Given the description of an element on the screen output the (x, y) to click on. 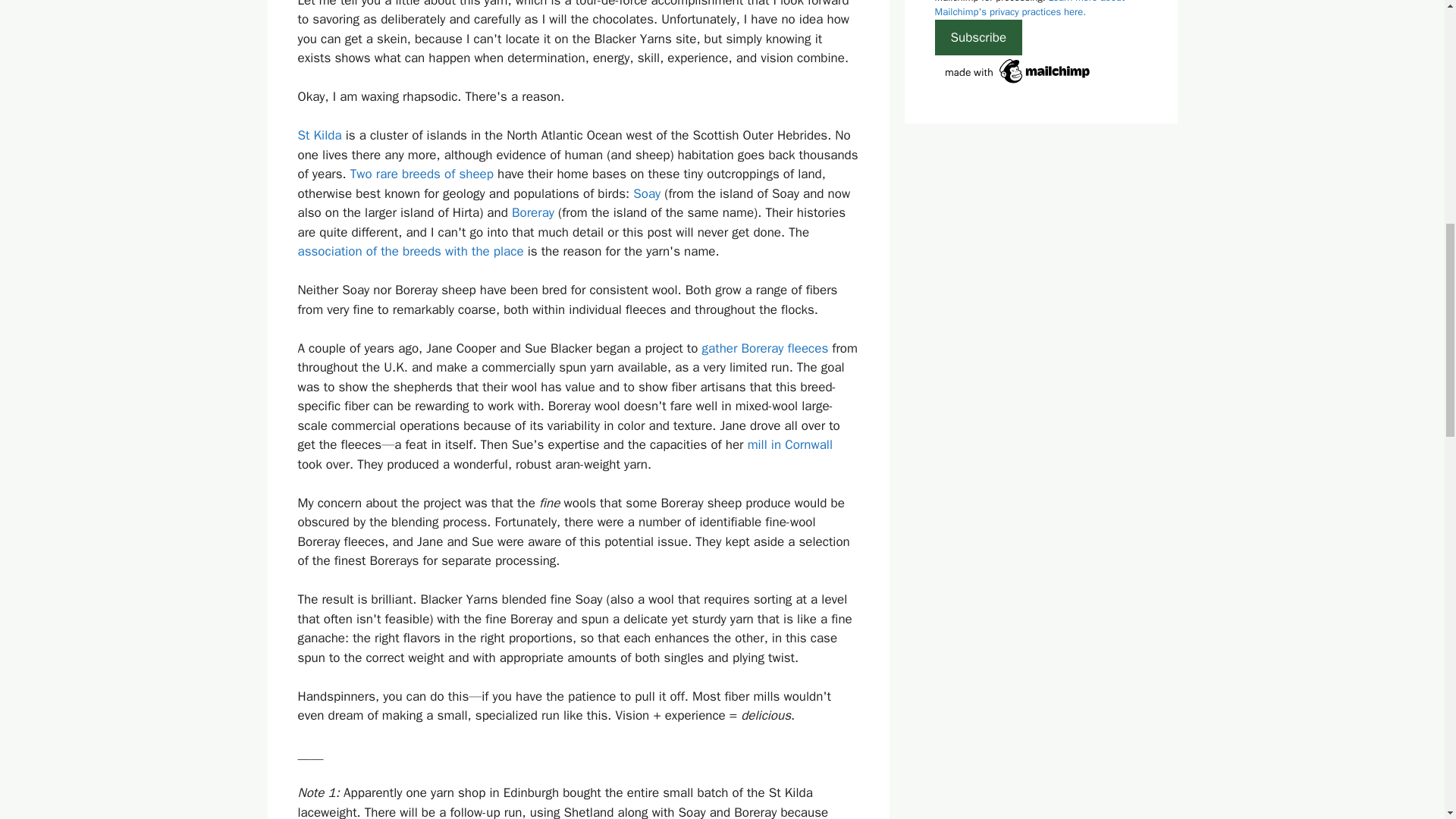
Mailchimp - email marketing made easy and fun (1017, 82)
Subscribe (978, 37)
